Given the description of an element on the screen output the (x, y) to click on. 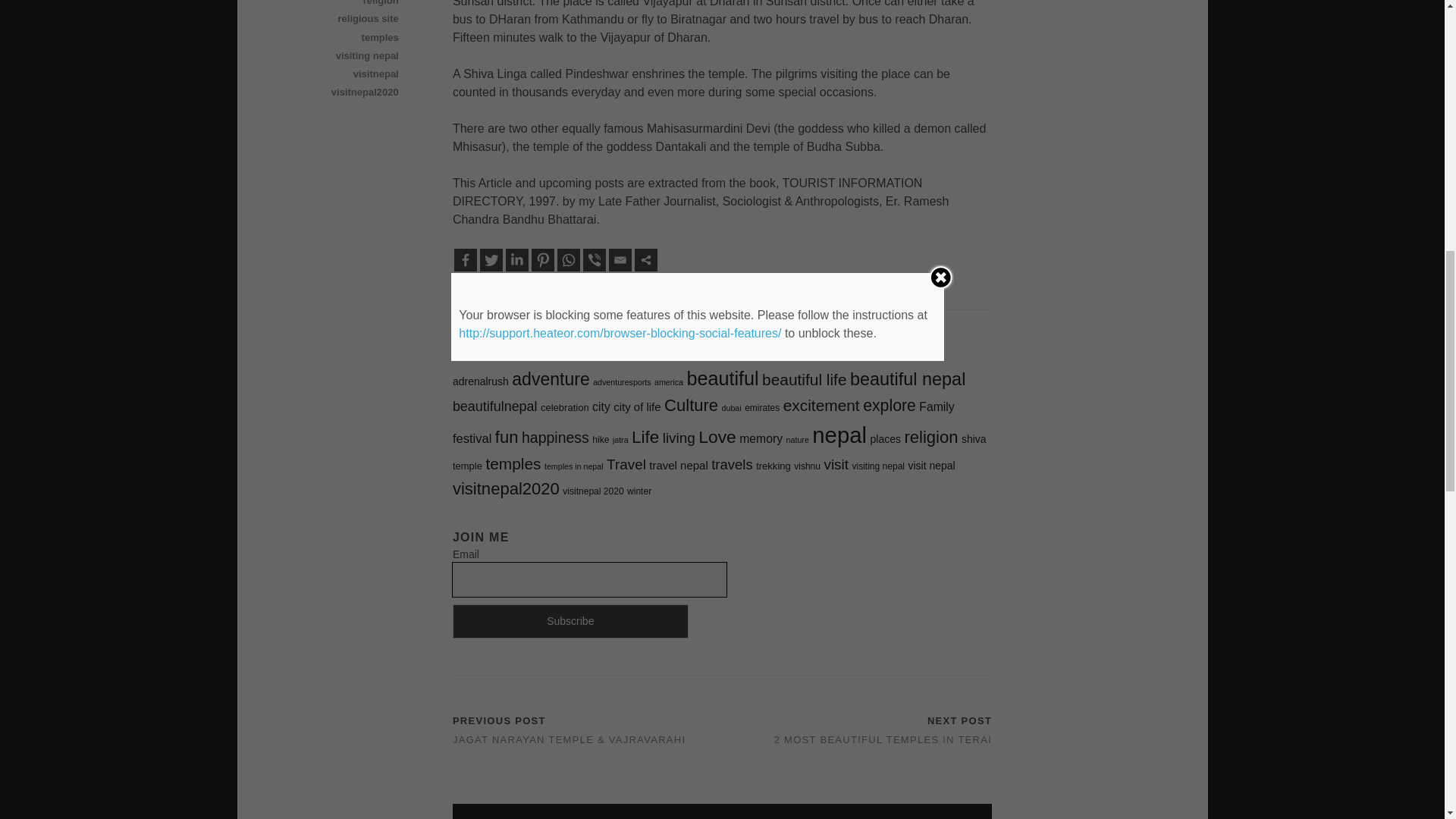
city (601, 406)
Whatsapp (568, 259)
city of life (636, 406)
Facebook (465, 259)
Email (619, 259)
adventuresports (621, 381)
Family (935, 406)
beautiful nepal (907, 379)
excitement (821, 405)
Subscribe (570, 621)
Twitter (491, 259)
explore (889, 405)
More (646, 259)
america (667, 381)
emirates (761, 407)
